Given the description of an element on the screen output the (x, y) to click on. 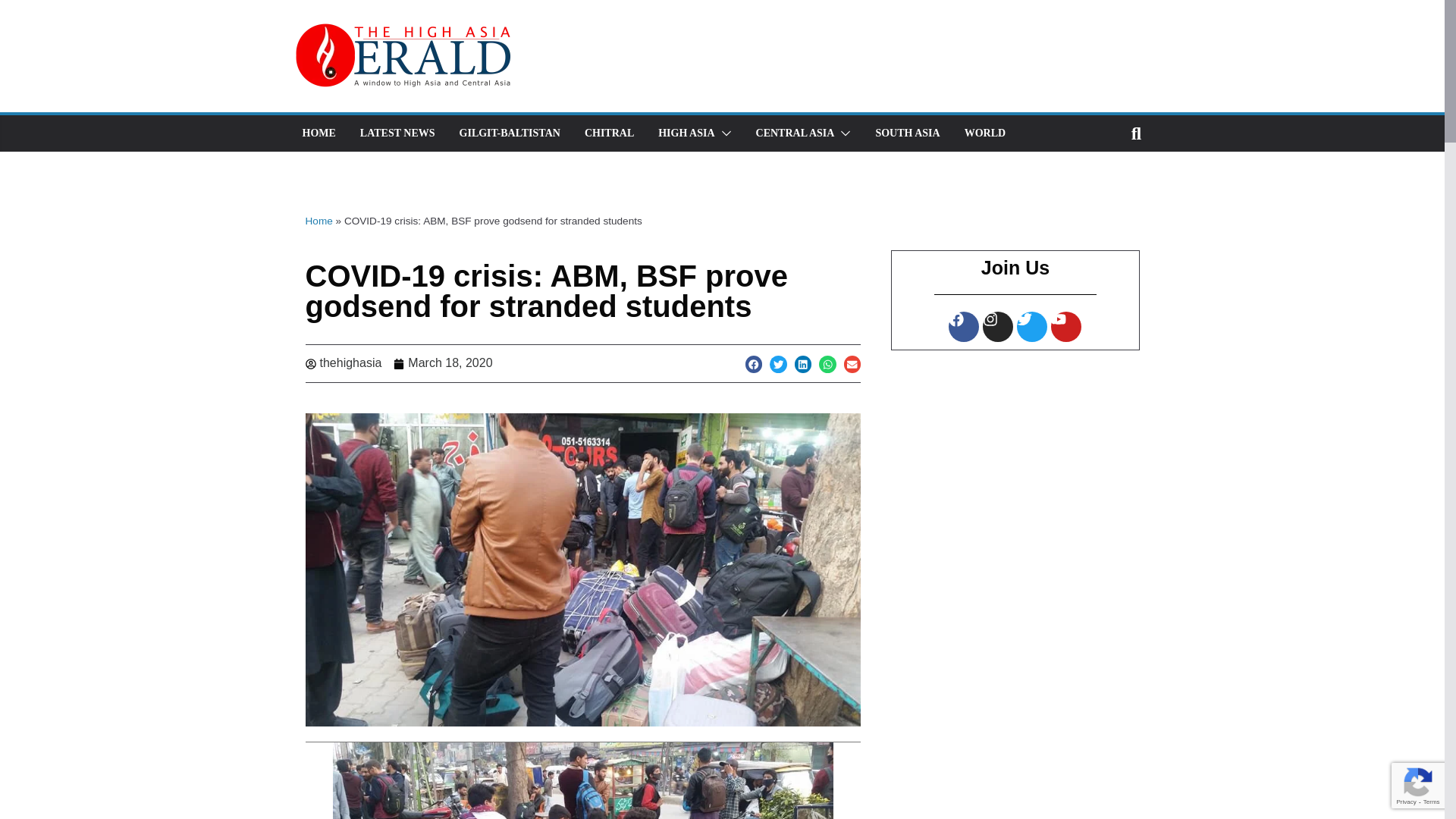
Home (317, 220)
WORLD (984, 133)
CHITRAL (609, 133)
thehighasia (342, 363)
LATEST NEWS (397, 133)
GILGIT-BALTISTAN (510, 133)
CENTRAL ASIA (794, 133)
SOUTH ASIA (907, 133)
March 18, 2020 (442, 363)
HIGH ASIA (686, 133)
HOME (317, 133)
